Given the description of an element on the screen output the (x, y) to click on. 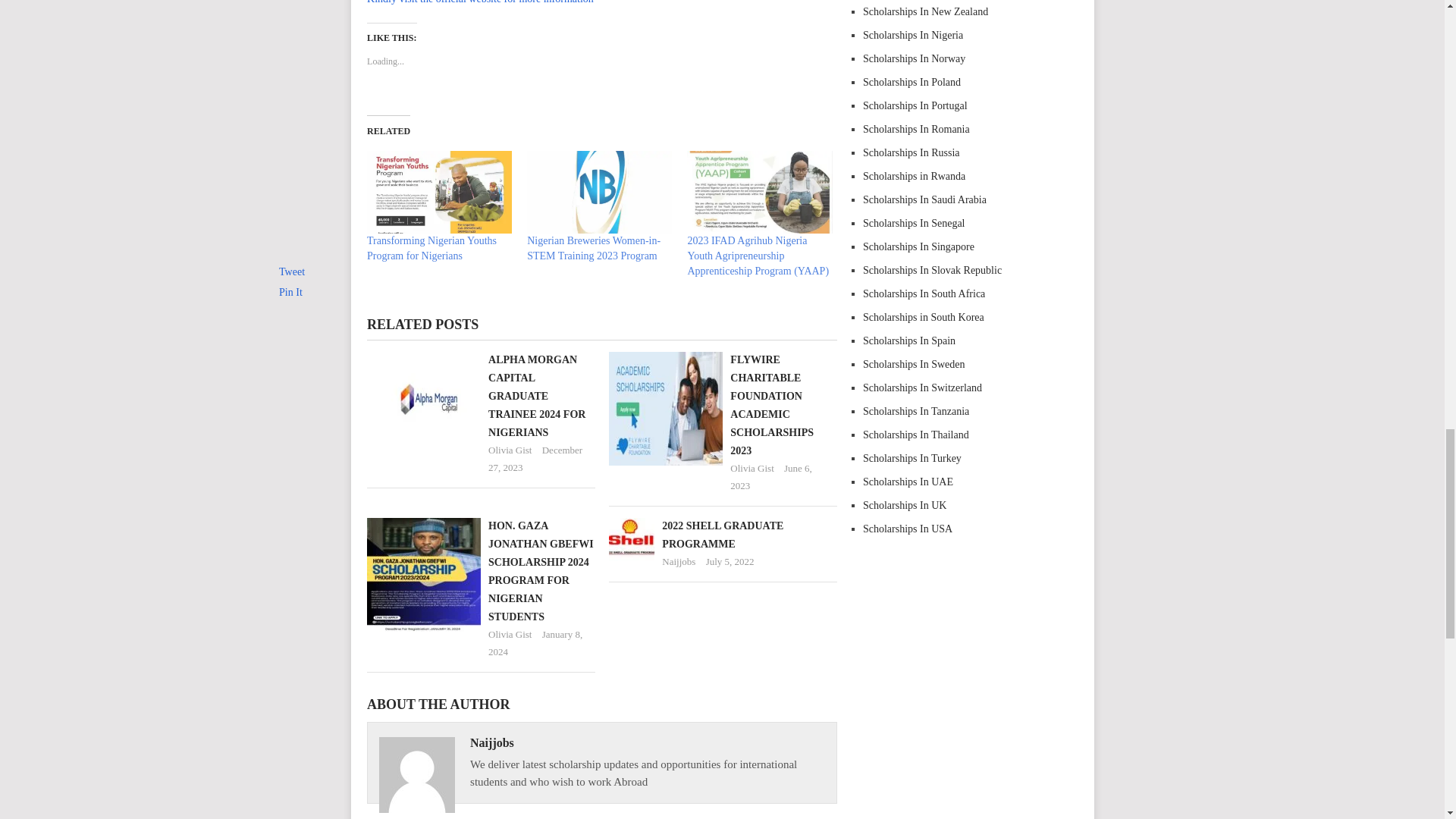
Olivia Gist (751, 468)
Naijjobs (678, 561)
Olivia Gist (509, 449)
Nigerian Breweries Women-in-STEM Training 2023 Program (594, 248)
2022 SHELL GRADUATE PROGRAMME (722, 534)
ALPHA MORGAN CAPITAL GRADUATE TRAINEE 2024 FOR NIGERIANS (536, 395)
Nigerian Breweries Women-in-STEM Training 2023 Program (599, 191)
Nigerian Breweries Women-in-STEM Training 2023 Program (594, 248)
Kindly visit the official website for more information (480, 2)
Olivia Gist (509, 633)
Transforming Nigerian Youths Program for Nigerians (439, 191)
Transforming Nigerian Youths Program for Nigerians (431, 248)
Transforming Nigerian Youths Program for Nigerians (431, 248)
Naijjobs (491, 742)
